Given the description of an element on the screen output the (x, y) to click on. 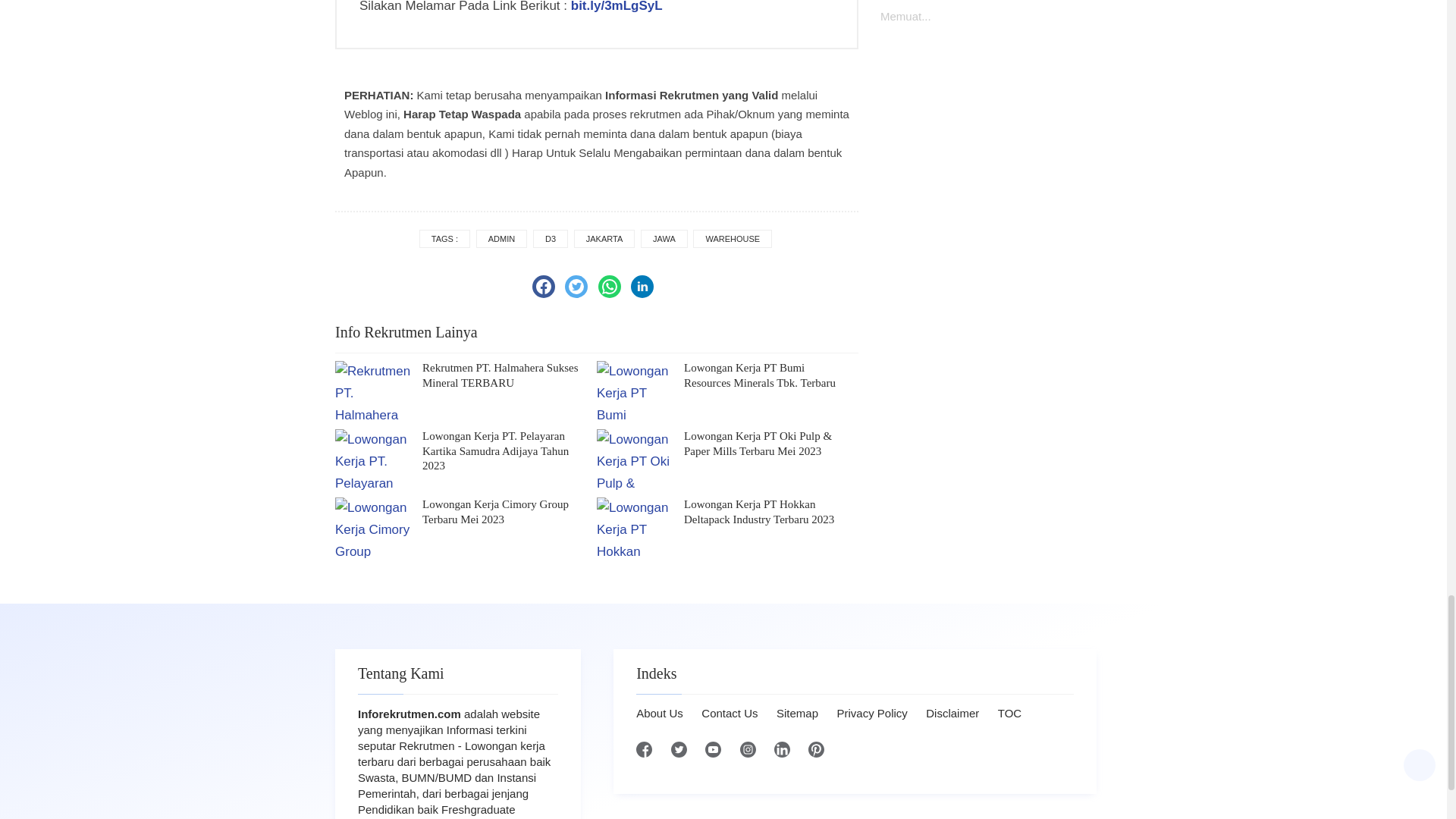
D3 (549, 239)
facebook (543, 286)
ADMIN (501, 239)
JAKARTA (603, 239)
Rekrutmen PT. Halmahera Sukses Mineral TERBARU (509, 375)
whatsapp (609, 286)
twitter (576, 286)
JAWA (663, 239)
Lowongan Kerja PT Bumi Resources Minerals Tbk. Terbaru (771, 375)
WAREHOUSE (732, 239)
Linkedin (641, 286)
